Given the description of an element on the screen output the (x, y) to click on. 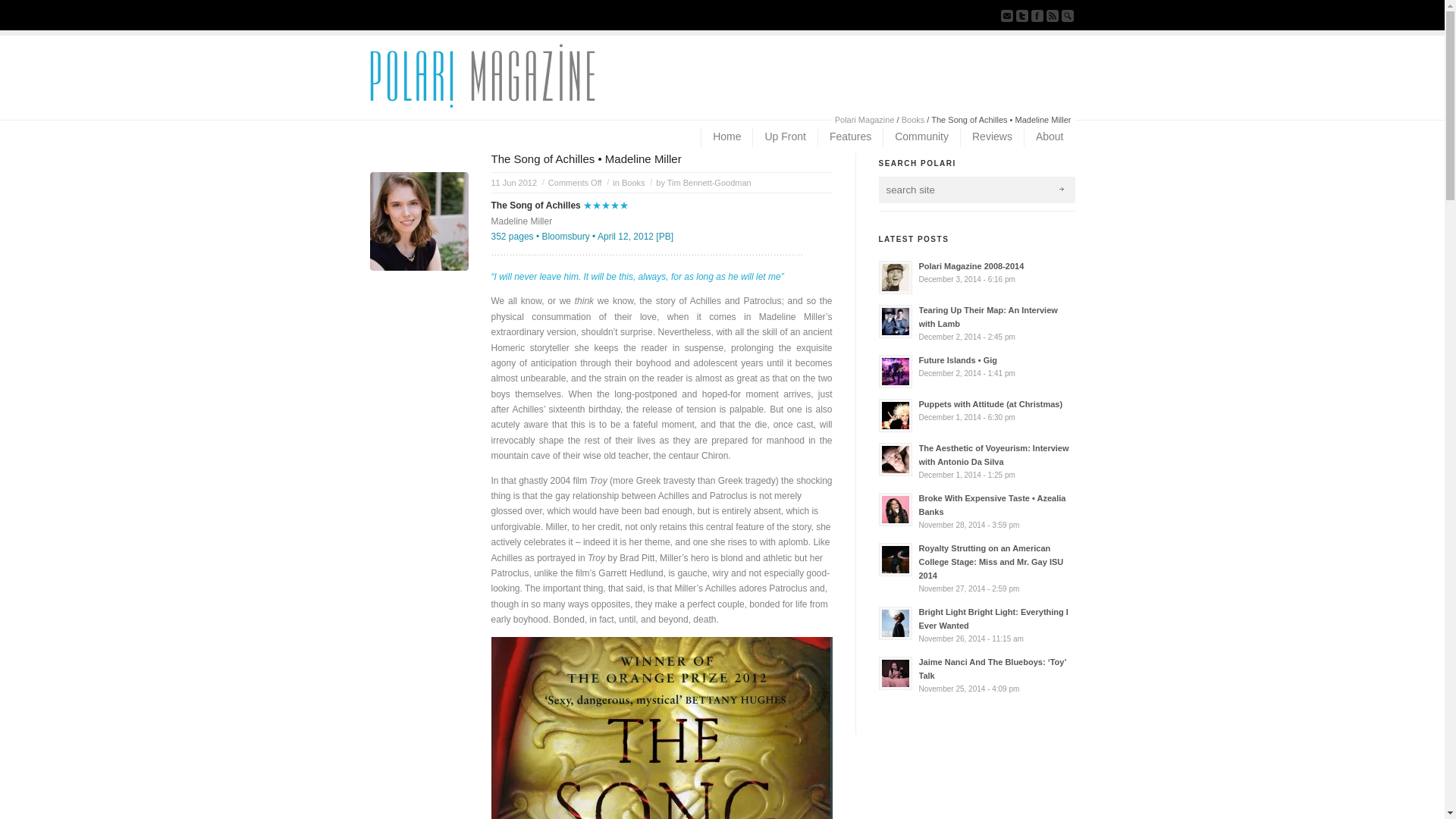
Subscribe to our RSS Feed (1052, 15)
Reviews (991, 137)
About (1049, 137)
Follow us on Twitter (1021, 15)
Search Site (1067, 15)
Features (849, 137)
Tearing Up Their Map: An Interview with Lamb (975, 322)
Join our Facebook Group (1037, 15)
Posts by Tim Bennett-Goodman (708, 182)
